Given the description of an element on the screen output the (x, y) to click on. 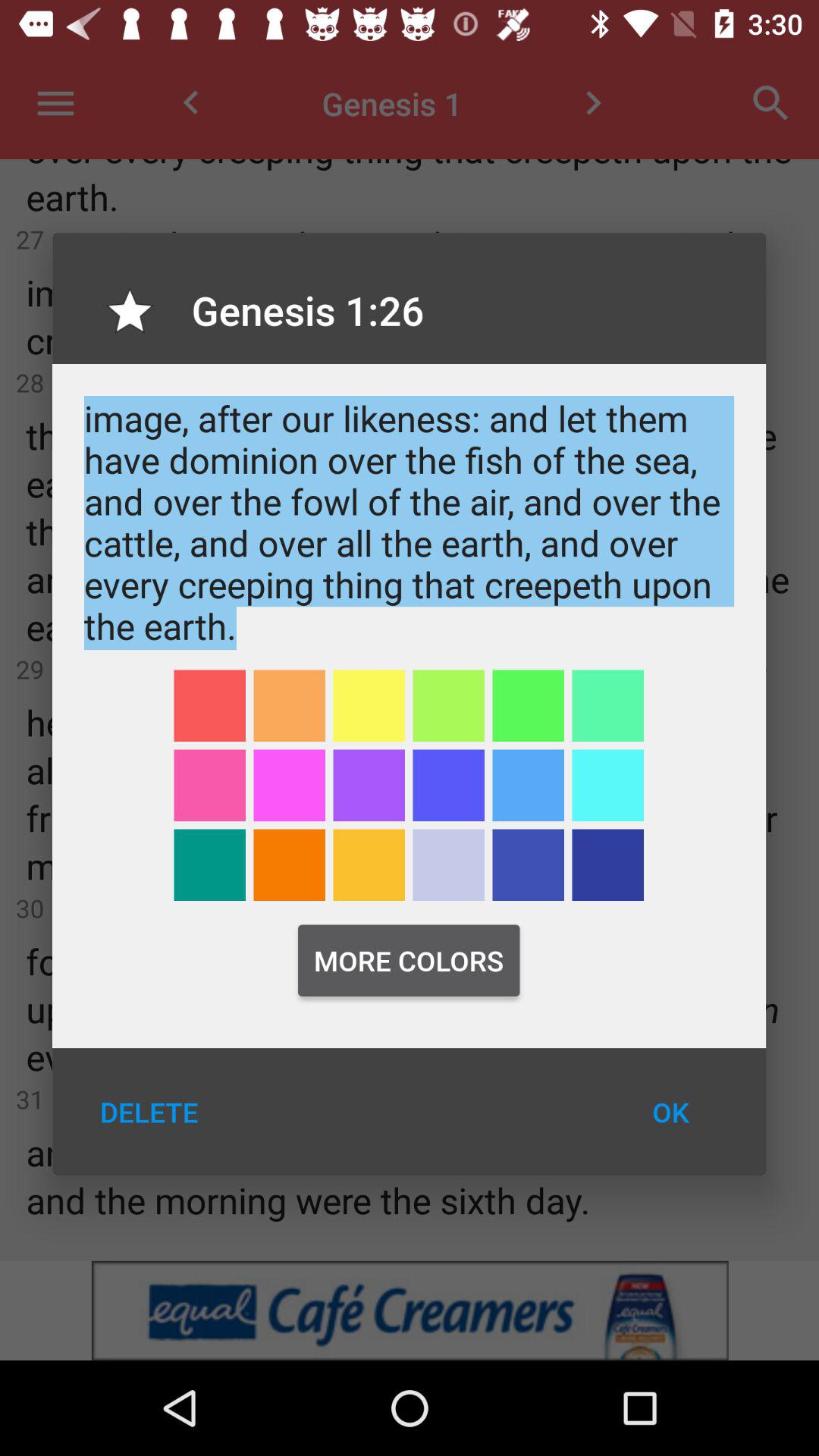
tap item below the and god said item (448, 705)
